Given the description of an element on the screen output the (x, y) to click on. 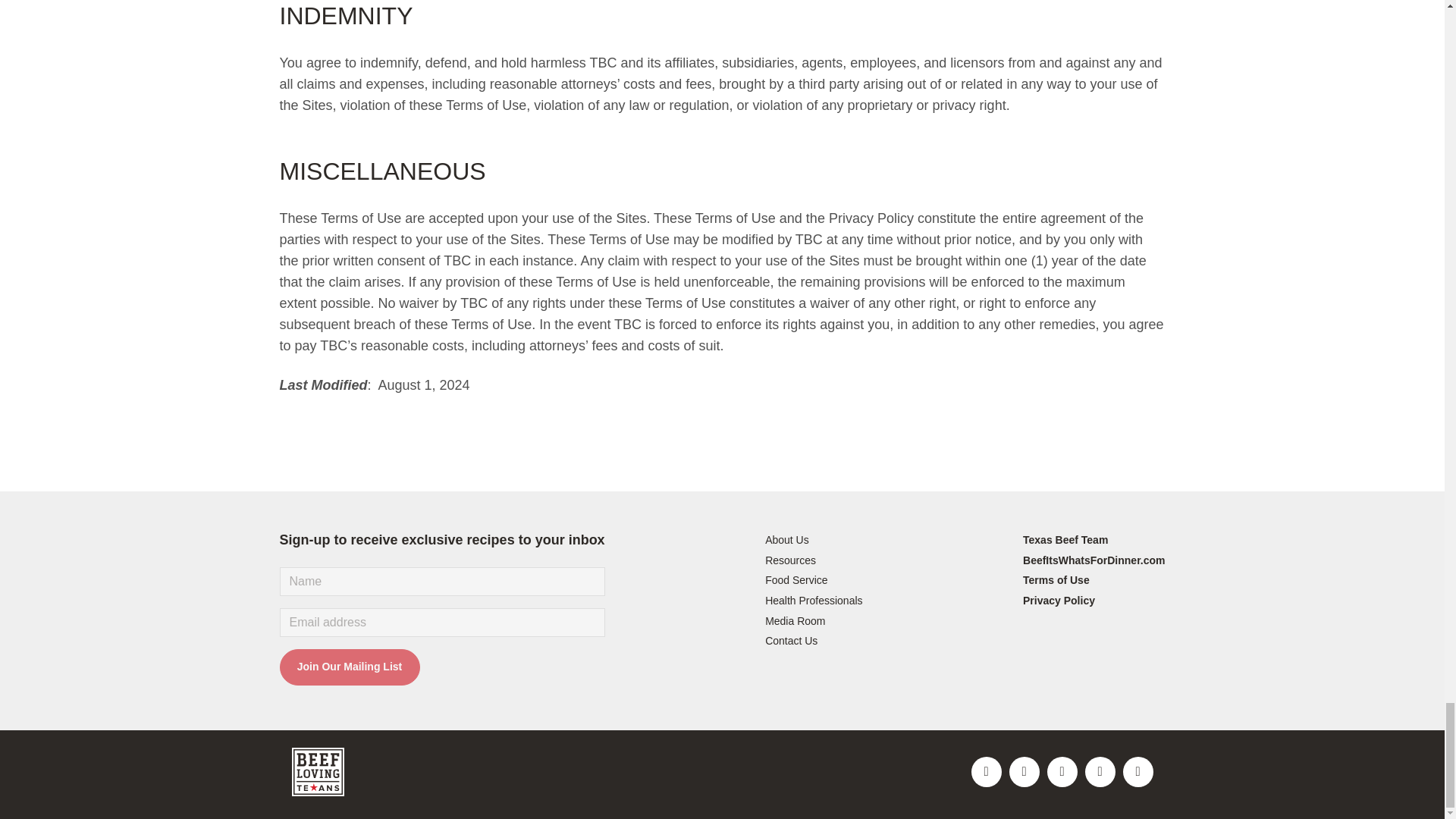
Media Room (795, 621)
About Us (787, 540)
Terms of Use (1056, 581)
Join Our Mailing List (349, 667)
Resources (790, 561)
Food Service (796, 581)
Contact Us (790, 641)
Health Professionals (813, 601)
Join Our Mailing List (349, 667)
BeefItsWhatsForDinner.com (1093, 561)
